Given the description of an element on the screen output the (x, y) to click on. 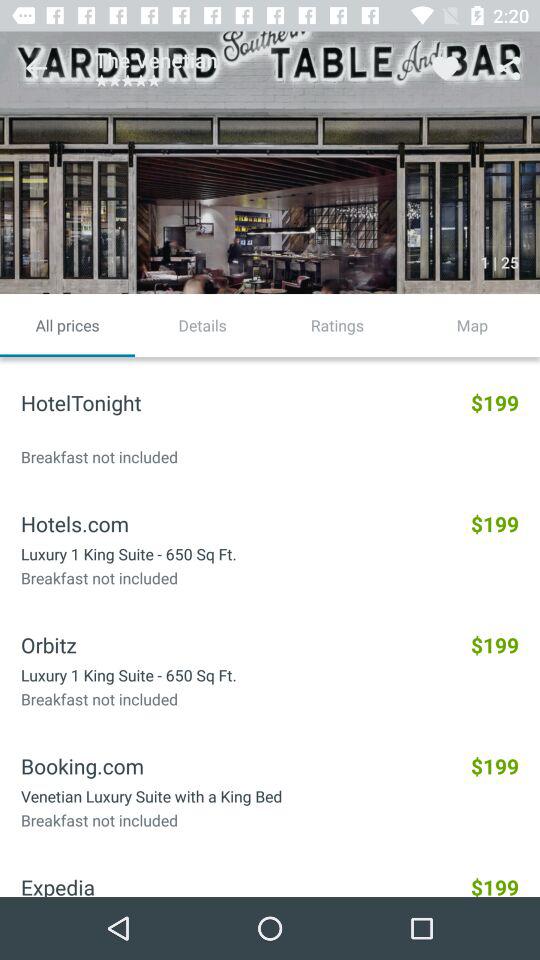
press the icon to the right of the all prices icon (202, 325)
